Given the description of an element on the screen output the (x, y) to click on. 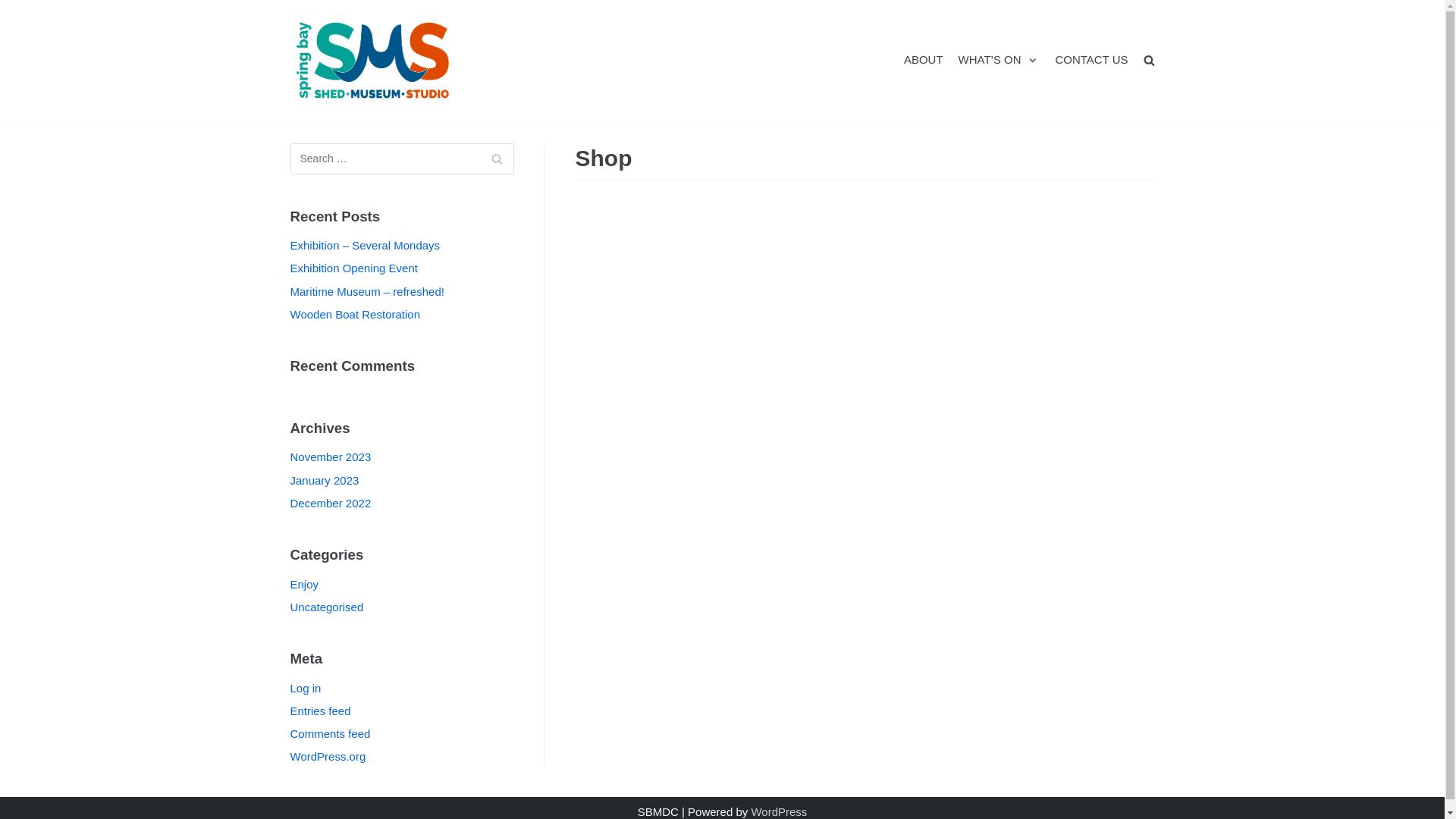
Comments feed Element type: text (329, 733)
WordPress Element type: text (778, 811)
WordPress.org Element type: text (327, 755)
December 2022 Element type: text (329, 502)
Log in Element type: text (304, 687)
Exhibition Opening Event Element type: text (353, 267)
Entries feed Element type: text (319, 710)
January 2023 Element type: text (323, 479)
Search Element type: text (496, 158)
November 2023 Element type: text (329, 456)
Wooden Boat Restoration Element type: text (354, 313)
Spring Bay Maritime & Discovery Centre (SMS) Element type: hover (373, 59)
Skip to content Element type: text (15, 7)
Enjoy Element type: text (303, 583)
Search Element type: text (1122, 93)
ABOUT Element type: text (923, 59)
CONTACT US Element type: text (1090, 59)
Uncategorised Element type: text (326, 606)
